Given the description of an element on the screen output the (x, y) to click on. 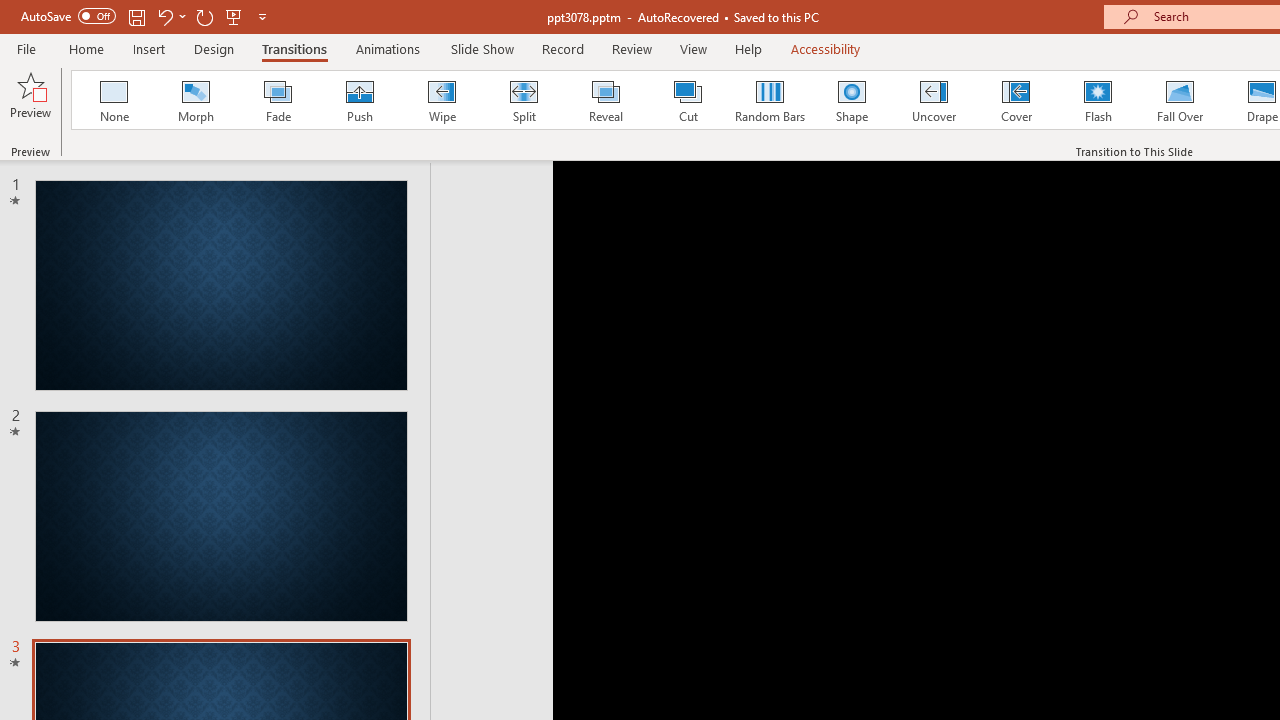
Reveal (605, 100)
Cover (1016, 100)
Uncover (934, 100)
Fall Over (1180, 100)
Flash (1098, 100)
